Given the description of an element on the screen output the (x, y) to click on. 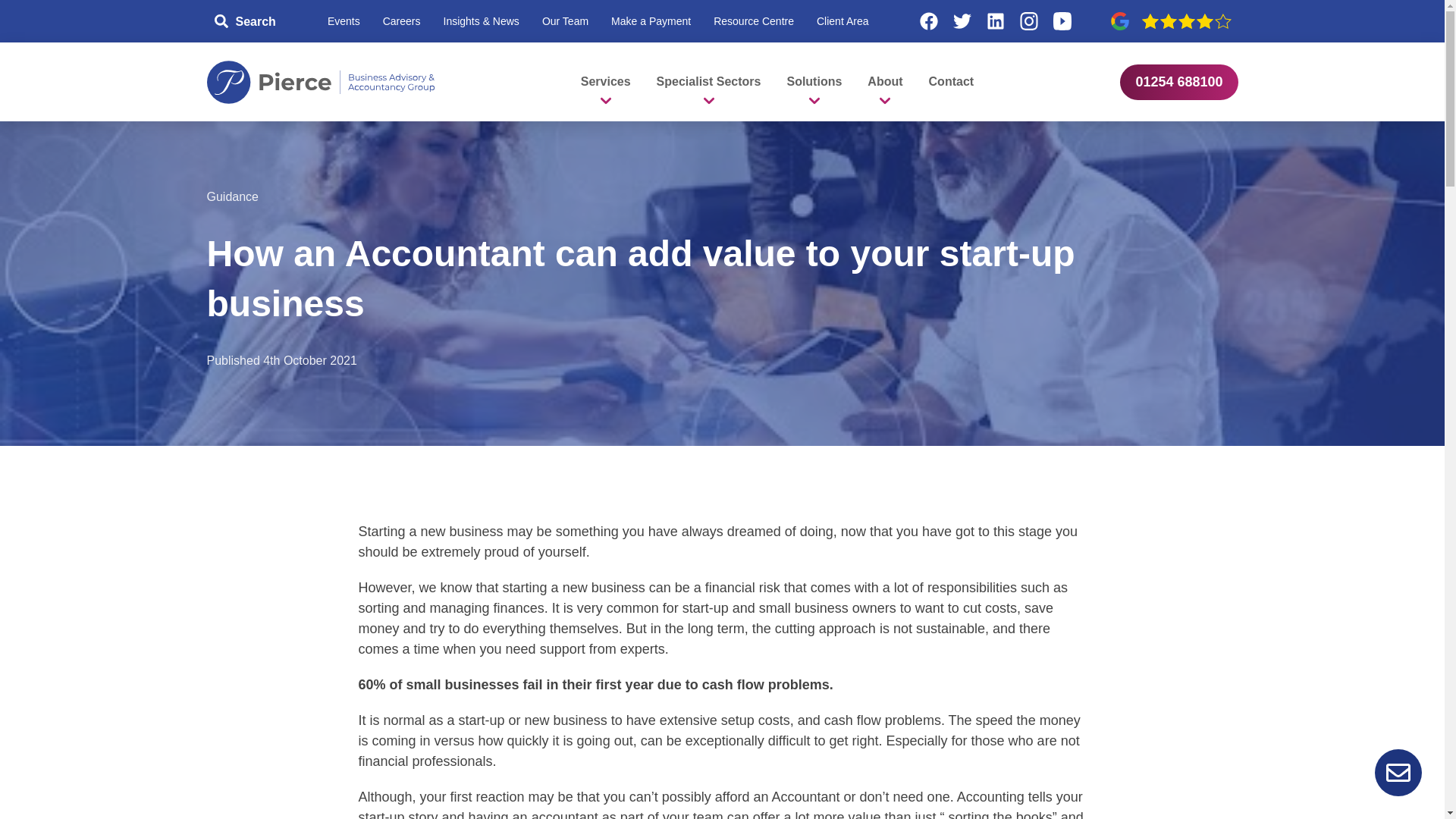
Pierce on Twitter (962, 21)
Pierce on Facebook (928, 21)
Send a Message (1398, 772)
Pierce on Linkedin (995, 21)
Pierce on Youtube (1062, 21)
Pierce on Instagram (1029, 21)
Search (246, 21)
